Given the description of an element on the screen output the (x, y) to click on. 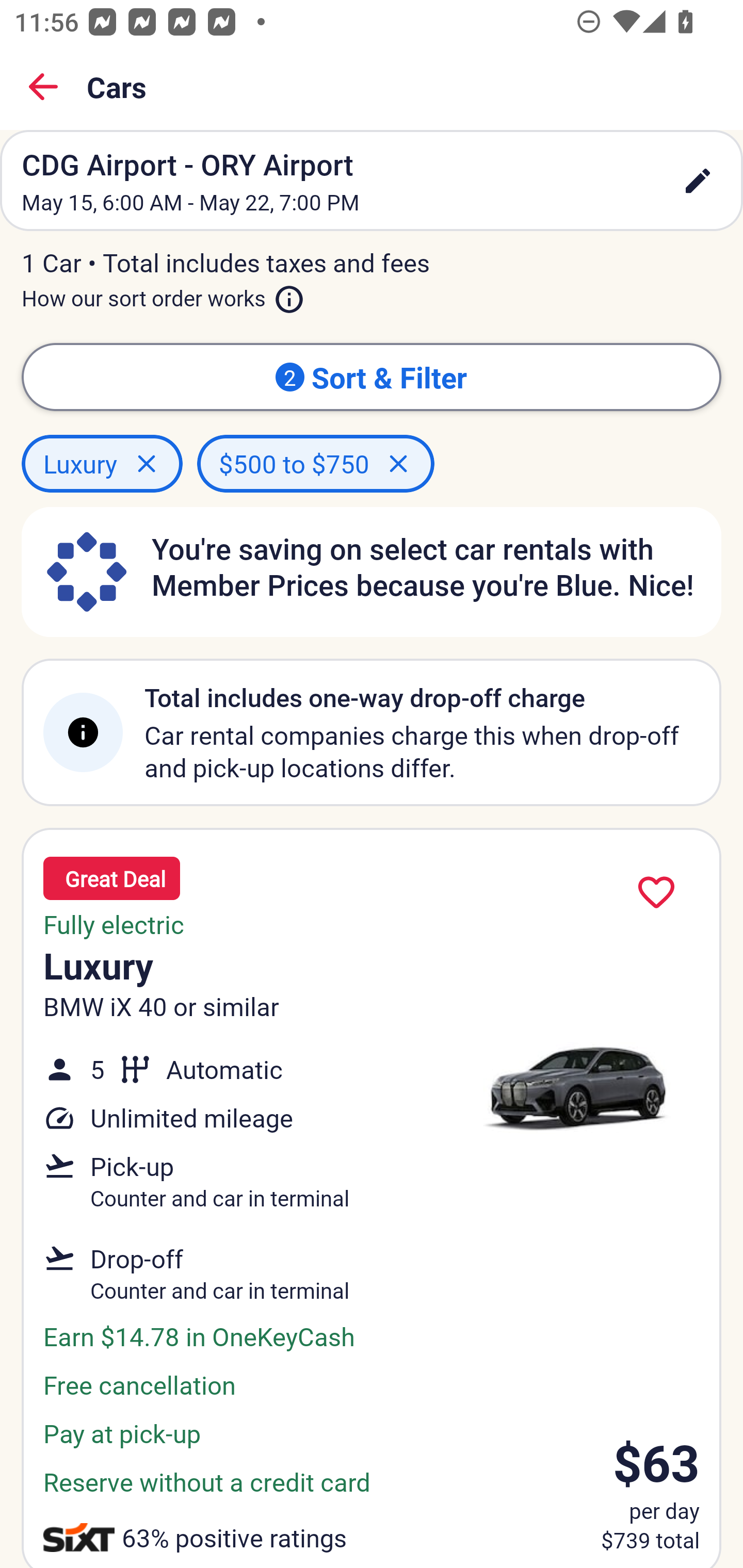
Back (43, 86)
edit (697, 180)
How our sort order works (163, 294)
2 Sort & Filter (371, 376)
